Given the description of an element on the screen output the (x, y) to click on. 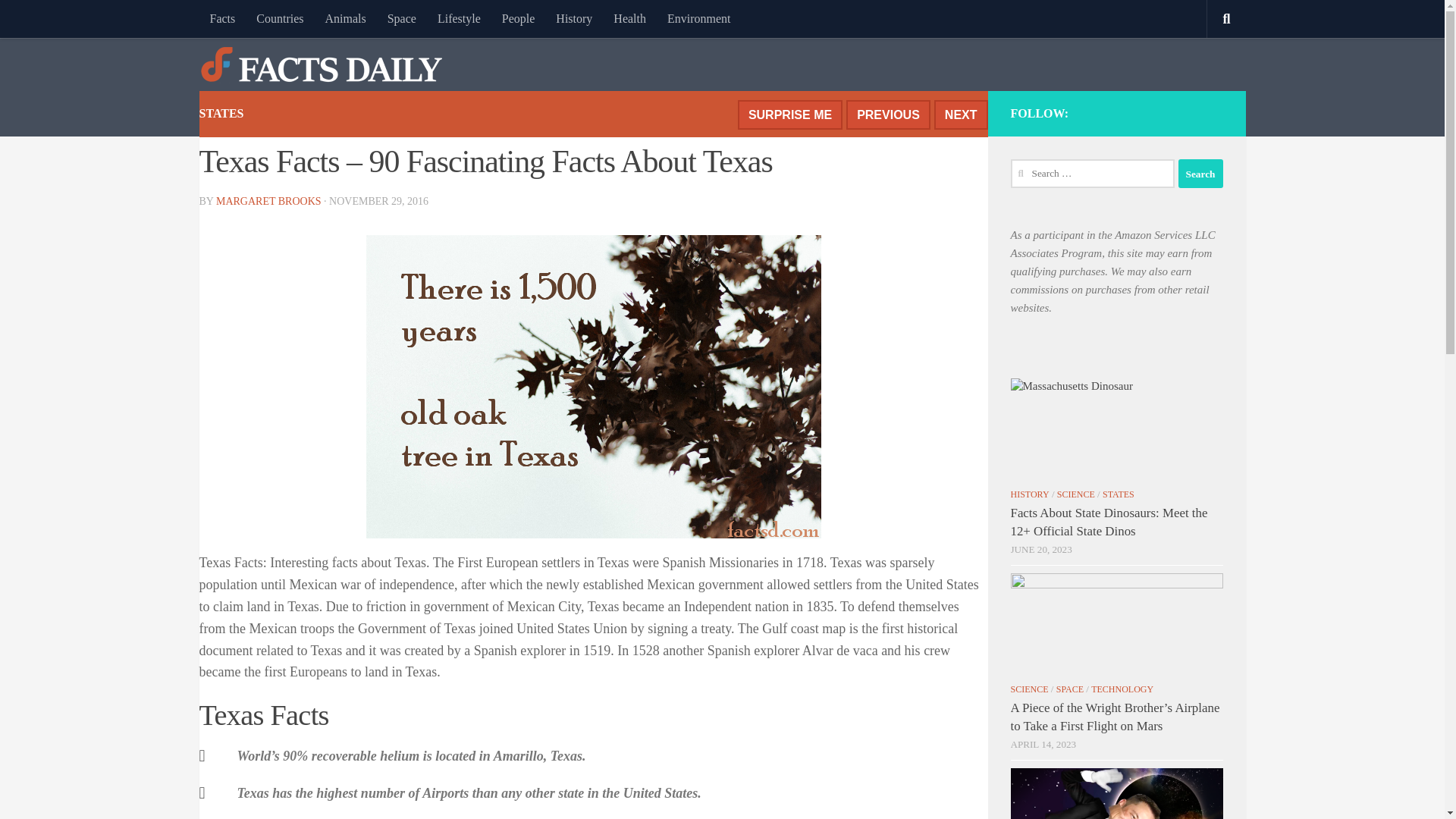
MARGARET BROOKS (268, 413)
History (573, 18)
Space (401, 18)
SPACE (1070, 688)
Facts (222, 18)
SURPRISE ME (790, 113)
Health (629, 18)
HISTORY (1029, 493)
Countries (280, 18)
Search (1200, 173)
